Given the description of an element on the screen output the (x, y) to click on. 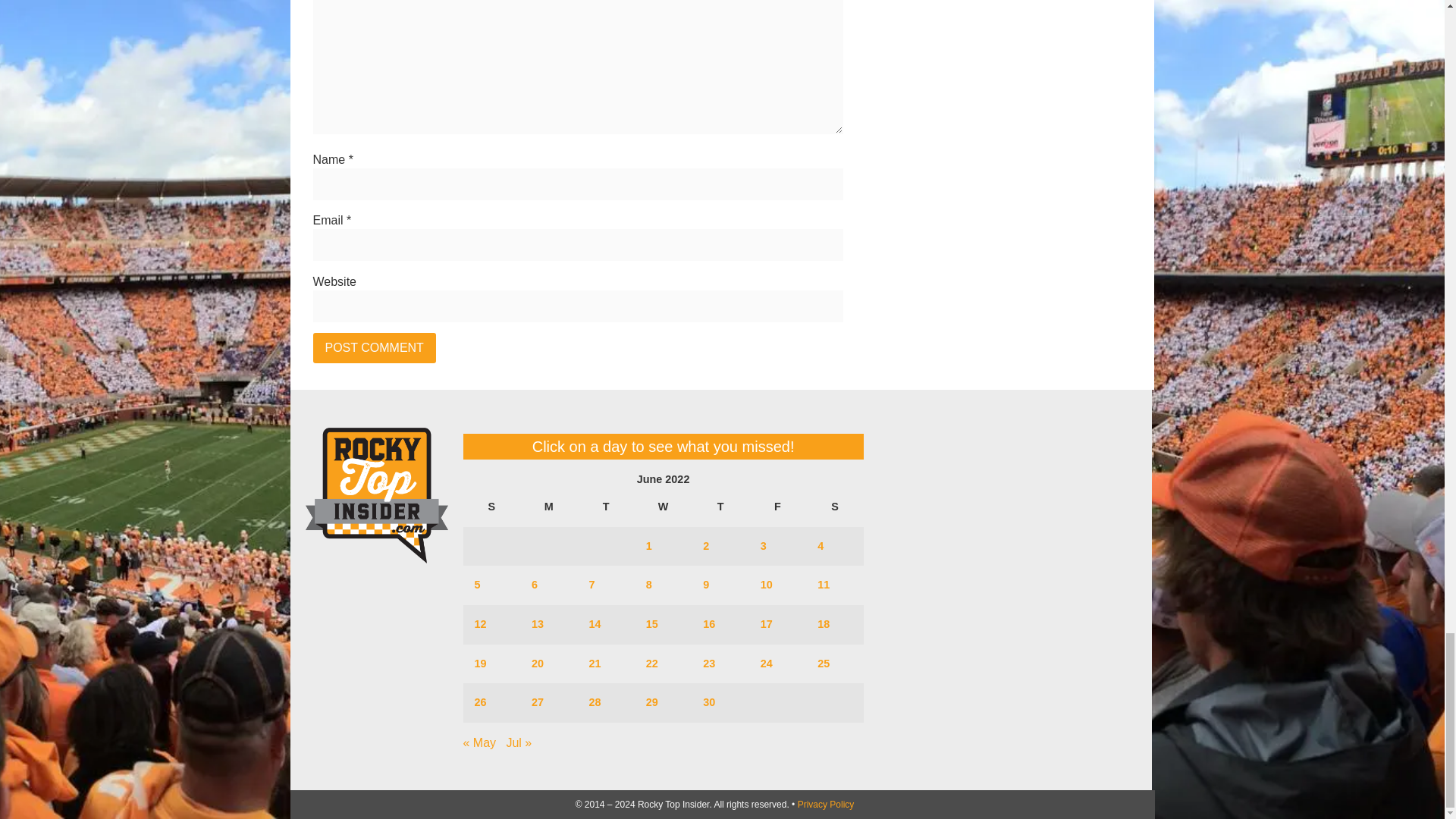
Friday (777, 507)
Monday (547, 507)
Wednesday (662, 507)
Sunday (491, 507)
Post Comment (374, 347)
Tuesday (604, 507)
Thursday (719, 507)
Saturday (834, 507)
